Given the description of an element on the screen output the (x, y) to click on. 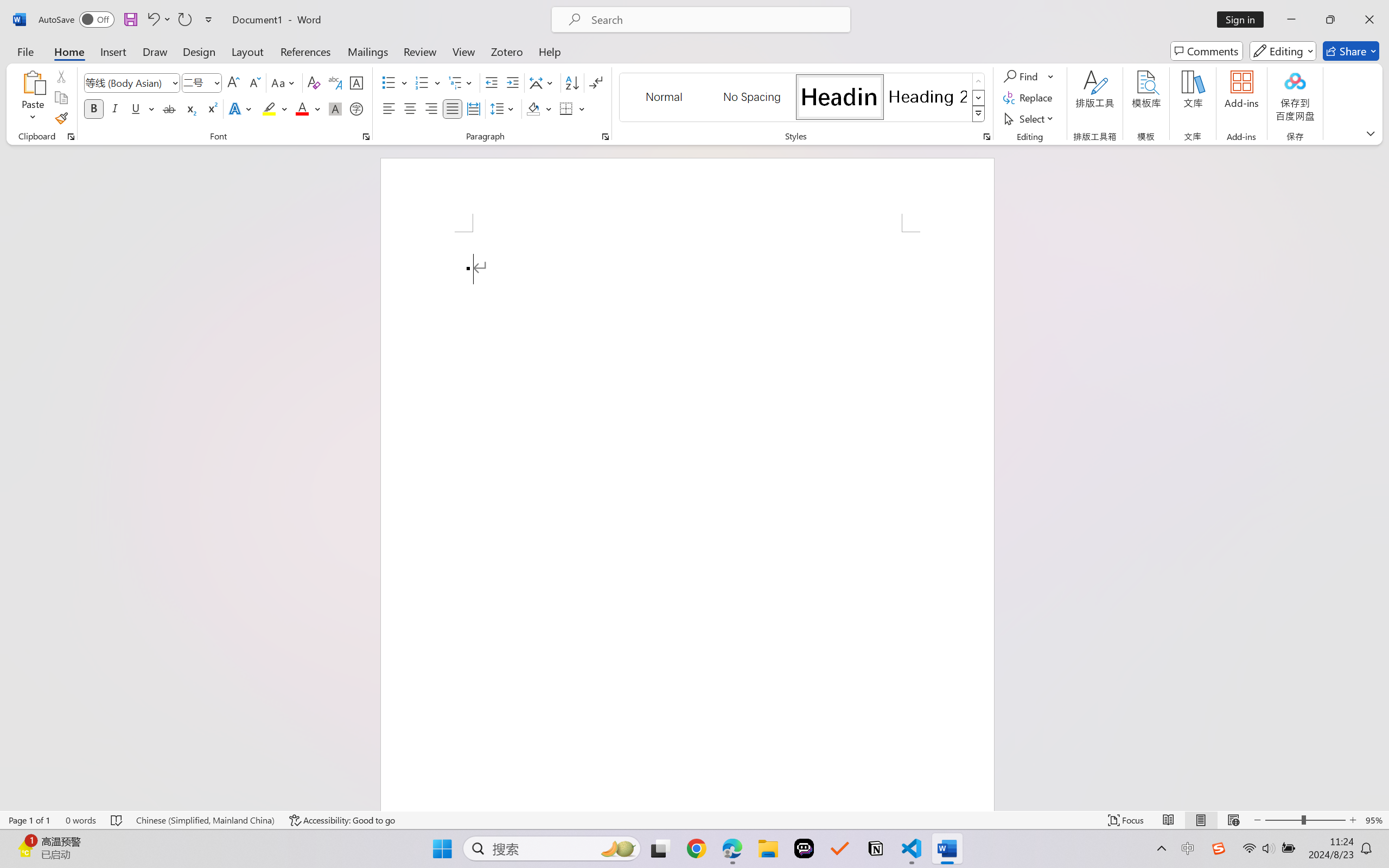
AutomationID: QuickStylesGallery (802, 97)
Undo Apply Quick Style (158, 19)
Zoom 95% (1374, 819)
